Given the description of an element on the screen output the (x, y) to click on. 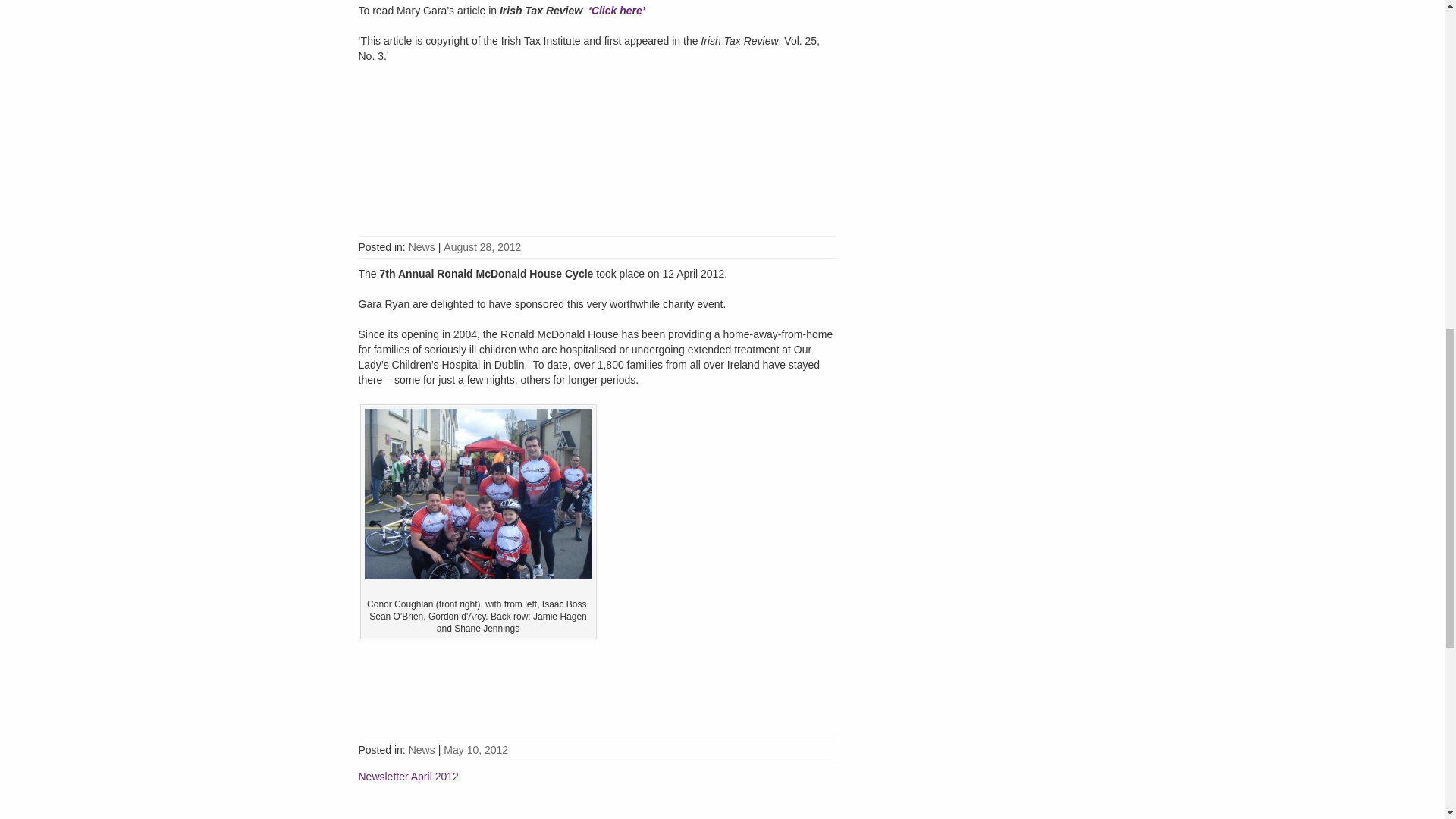
News (422, 246)
May 10, 2012 (476, 749)
Newsletter April 2012 (408, 776)
August 28, 2012 (482, 246)
News (422, 749)
